Given the description of an element on the screen output the (x, y) to click on. 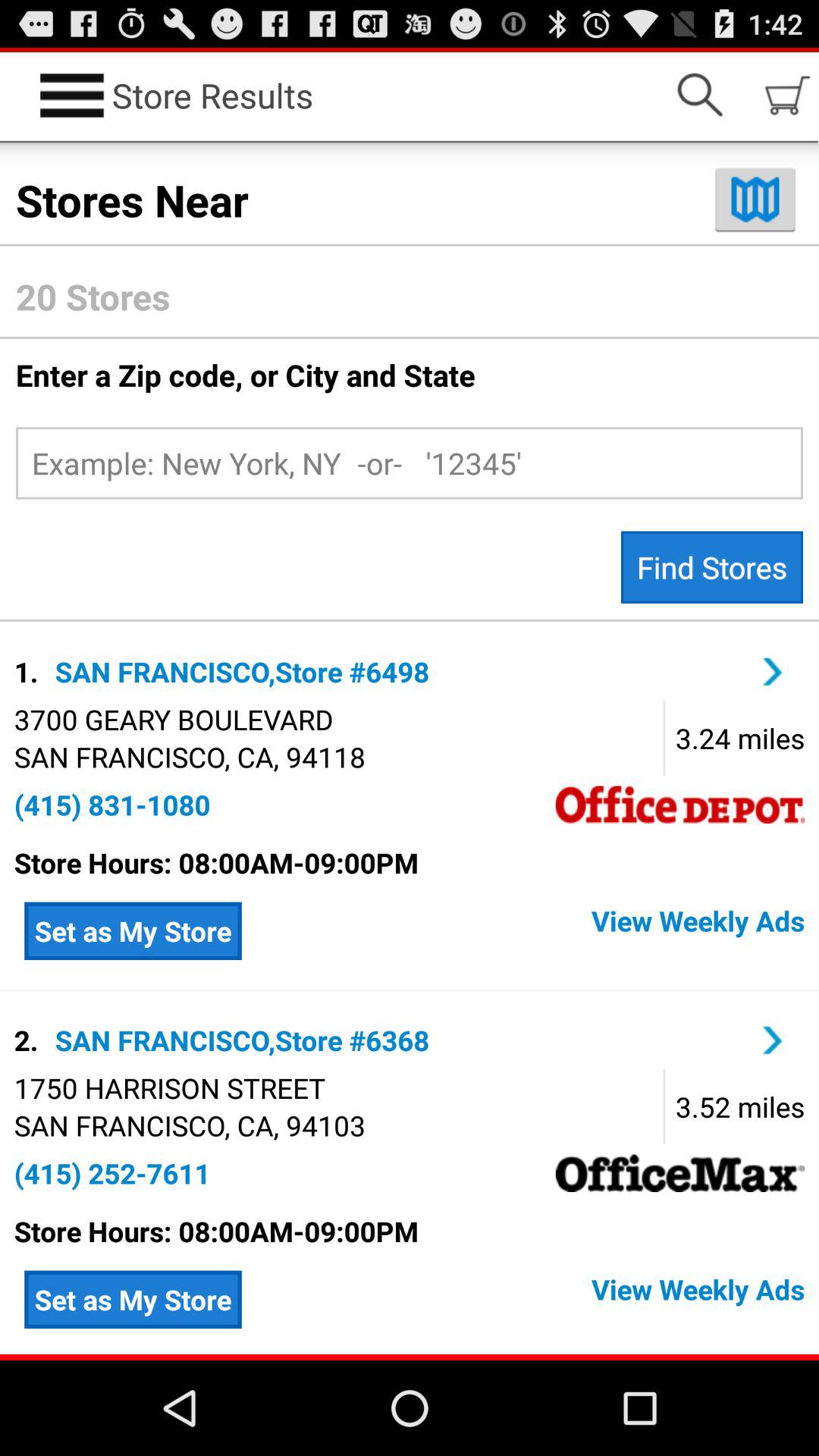
click the app above store hours 08 icon (112, 1173)
